Given the description of an element on the screen output the (x, y) to click on. 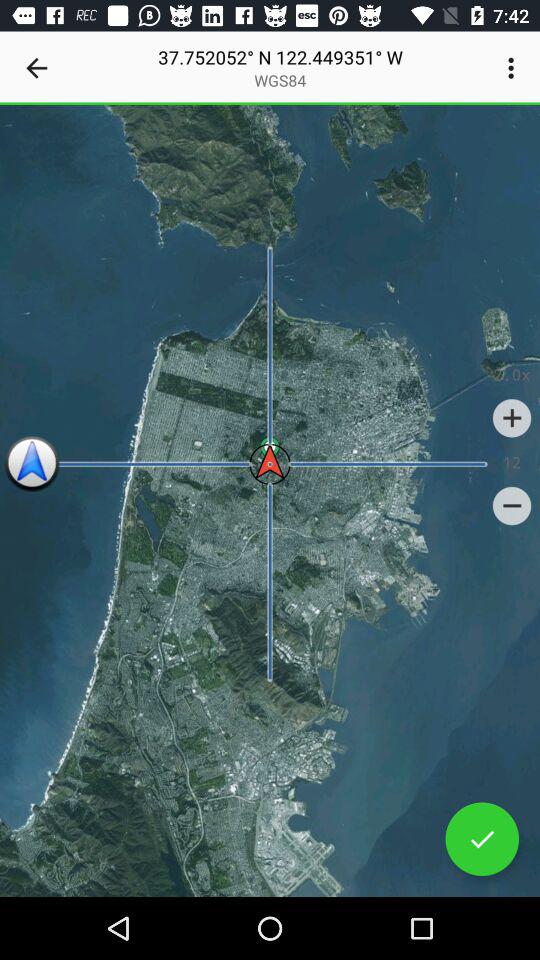
turn on the item at the top right corner (513, 67)
